Given the description of an element on the screen output the (x, y) to click on. 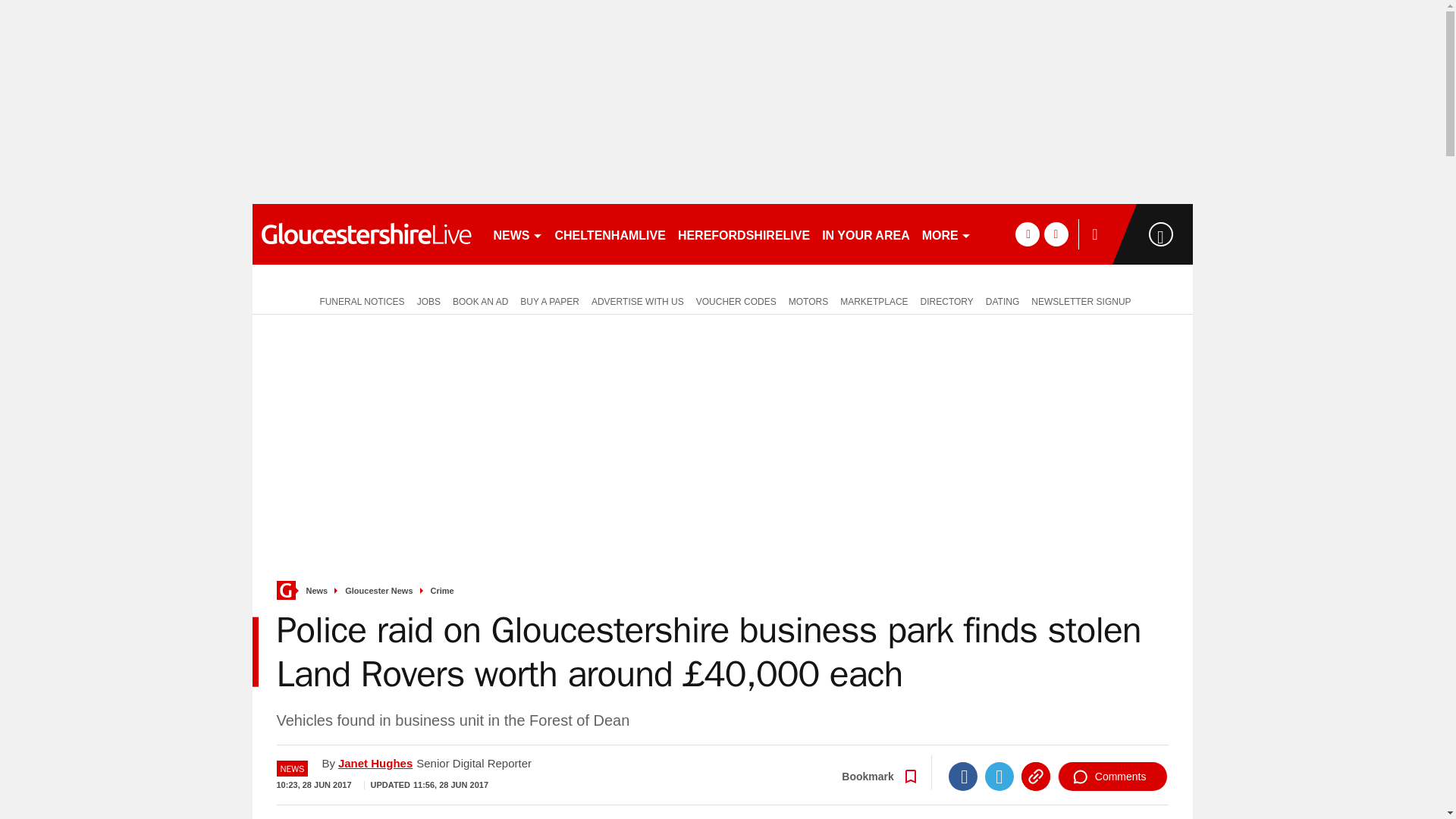
MORE (945, 233)
NEWS (517, 233)
gloucestershirelive (365, 233)
Comments (1112, 776)
facebook (1026, 233)
CHELTENHAMLIVE (609, 233)
twitter (1055, 233)
Twitter (999, 776)
Facebook (962, 776)
IN YOUR AREA (865, 233)
